Given the description of an element on the screen output the (x, y) to click on. 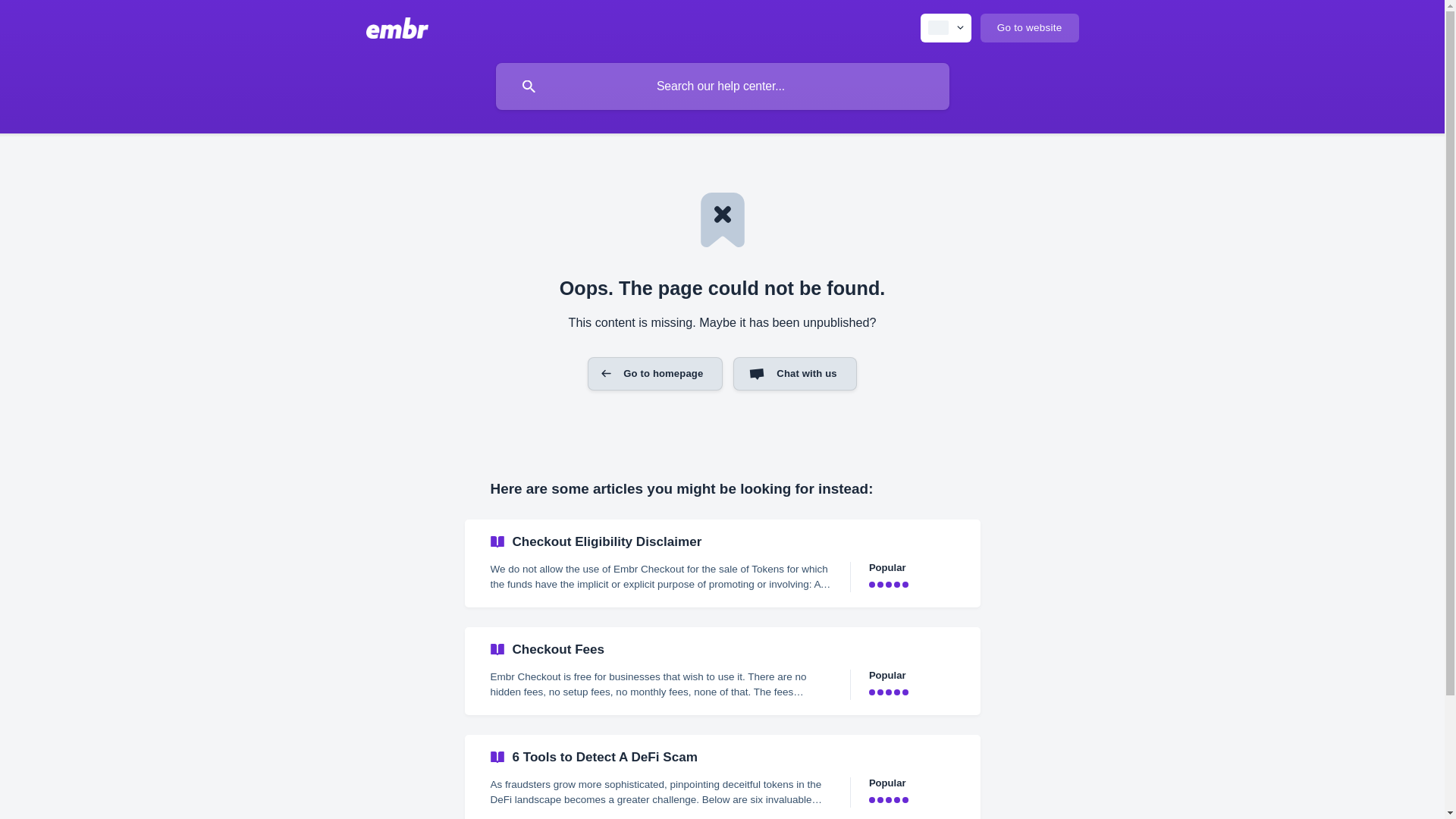
Chat with us (794, 373)
Go to website (1028, 27)
Go to homepage (655, 373)
